Given the description of an element on the screen output the (x, y) to click on. 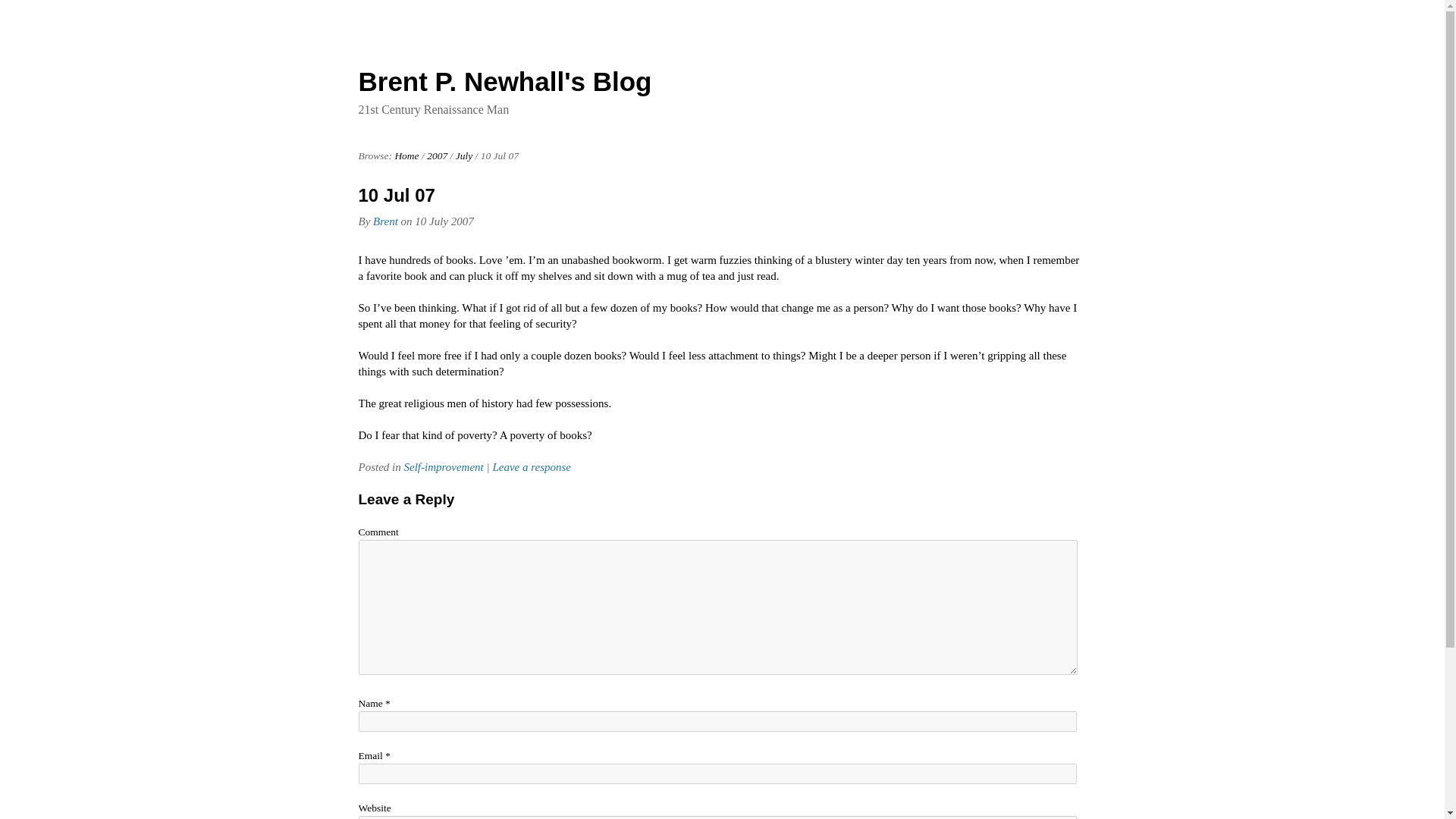
Tuesday, July 10th, 2007, 12:00 am (443, 221)
Self-improvement (443, 467)
July (464, 155)
July 2007 (464, 155)
2007 (436, 155)
Brent P. Newhall's Blog (504, 81)
Comment on 10 Jul 07 (531, 467)
Brent P. Newhall's Blog (504, 81)
Brent (384, 221)
Leave a response (531, 467)
Brent (384, 221)
Brent P. Newhall's Blog (406, 155)
Home (406, 155)
2007 (436, 155)
10 Jul 07 (395, 195)
